Given the description of an element on the screen output the (x, y) to click on. 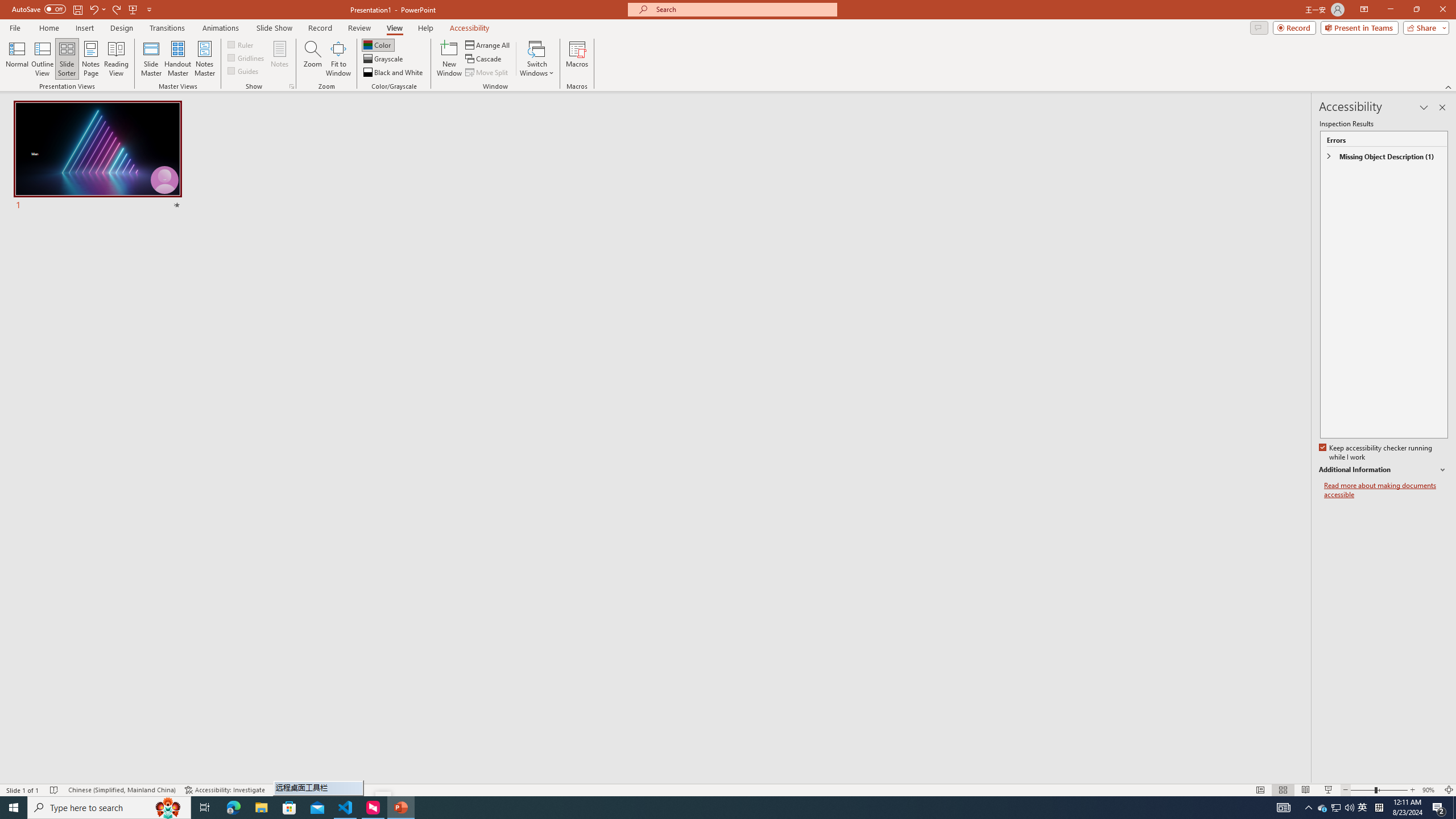
Arrange All (488, 44)
Zoom 90% (1430, 790)
Move Split (487, 72)
Black and White (393, 72)
